Given the description of an element on the screen output the (x, y) to click on. 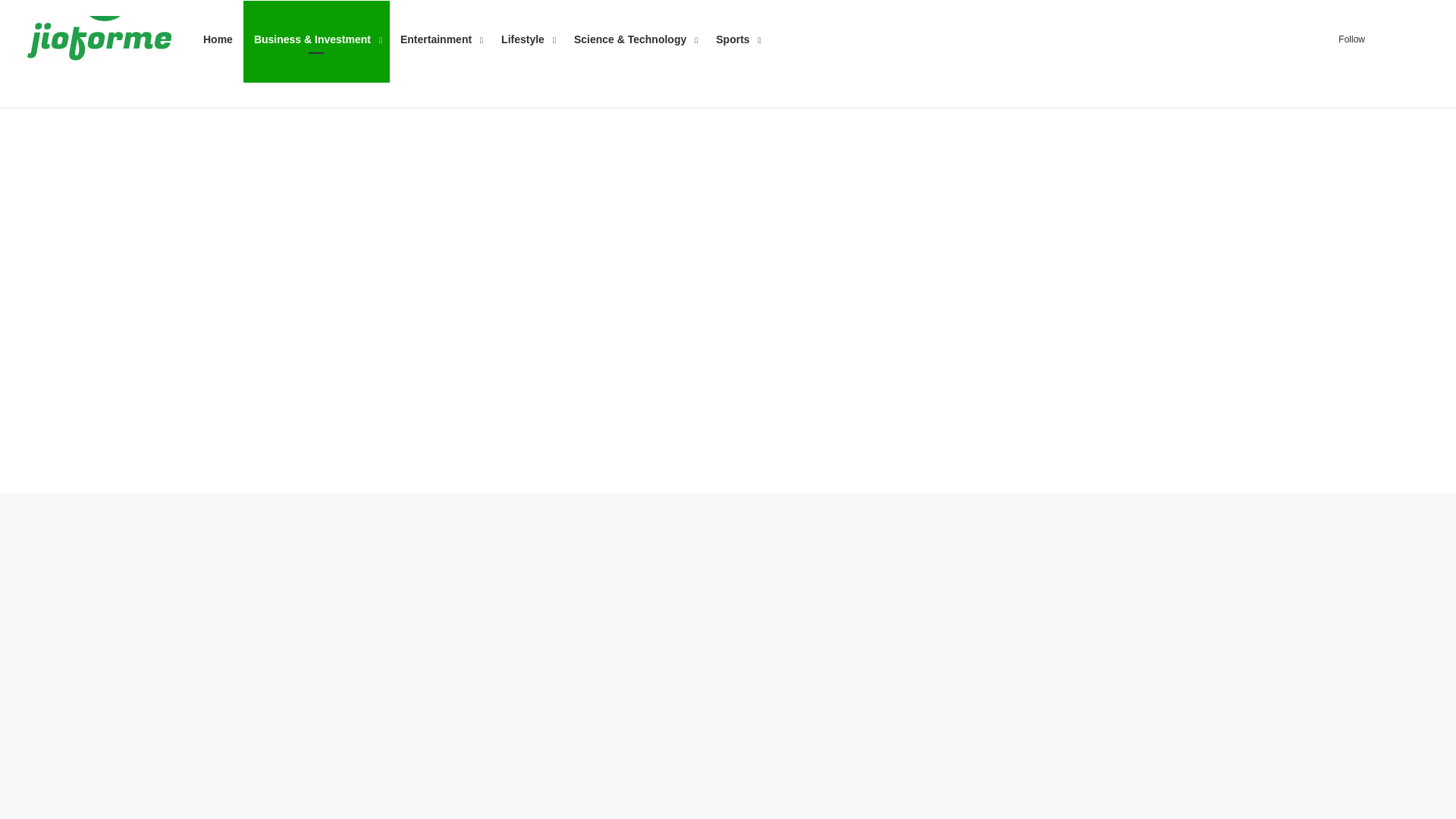
Lifestyle (526, 39)
Entertainment (440, 39)
jioforme (101, 39)
